Given the description of an element on the screen output the (x, y) to click on. 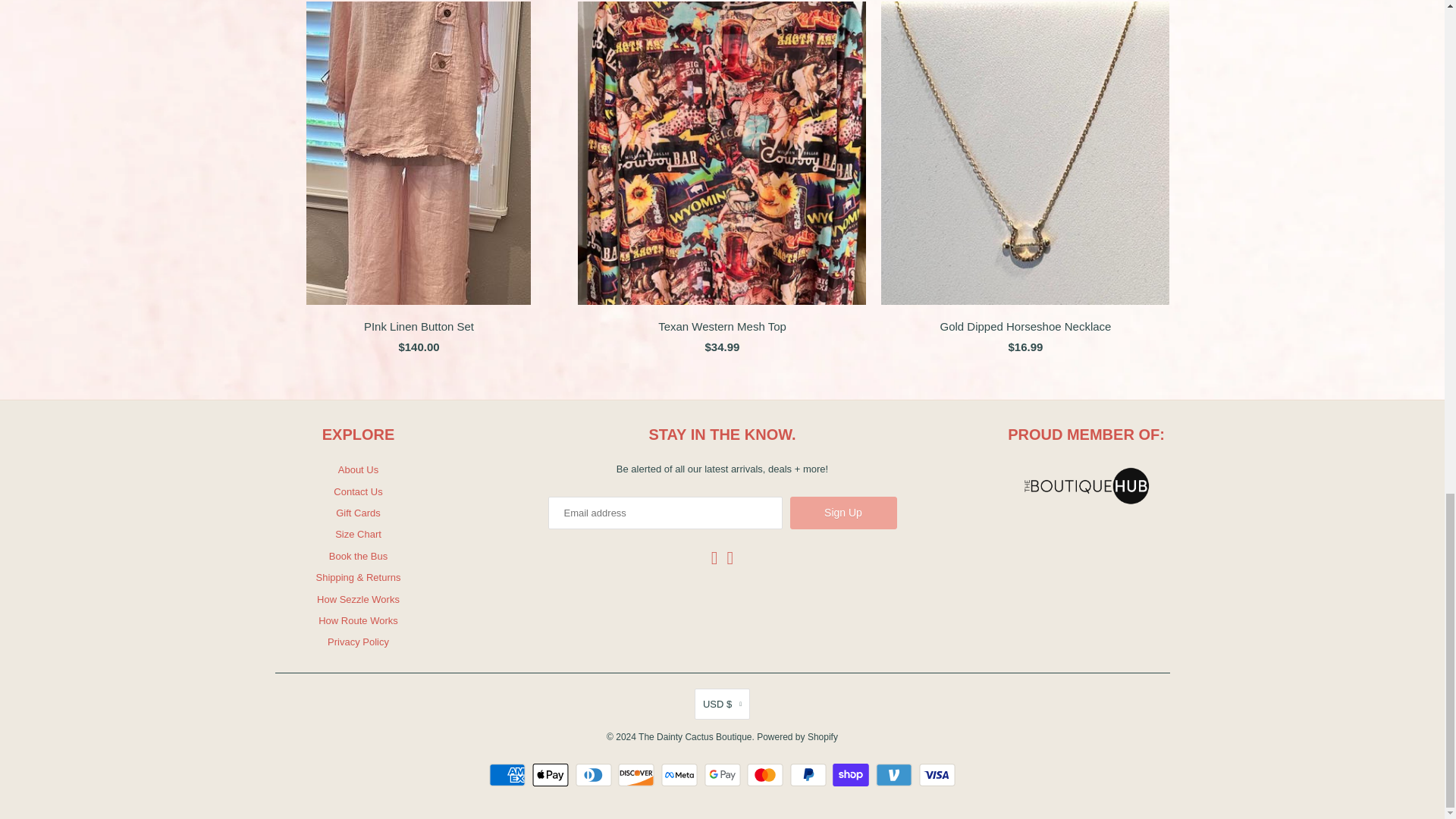
Mastercard (766, 774)
Venmo (895, 774)
Discover (637, 774)
Shop Pay (852, 774)
Diners Club (595, 774)
Visa (936, 774)
PayPal (809, 774)
Meta Pay (681, 774)
Sign Up (843, 512)
Google Pay (723, 774)
American Express (509, 774)
Apple Pay (552, 774)
